Given the description of an element on the screen output the (x, y) to click on. 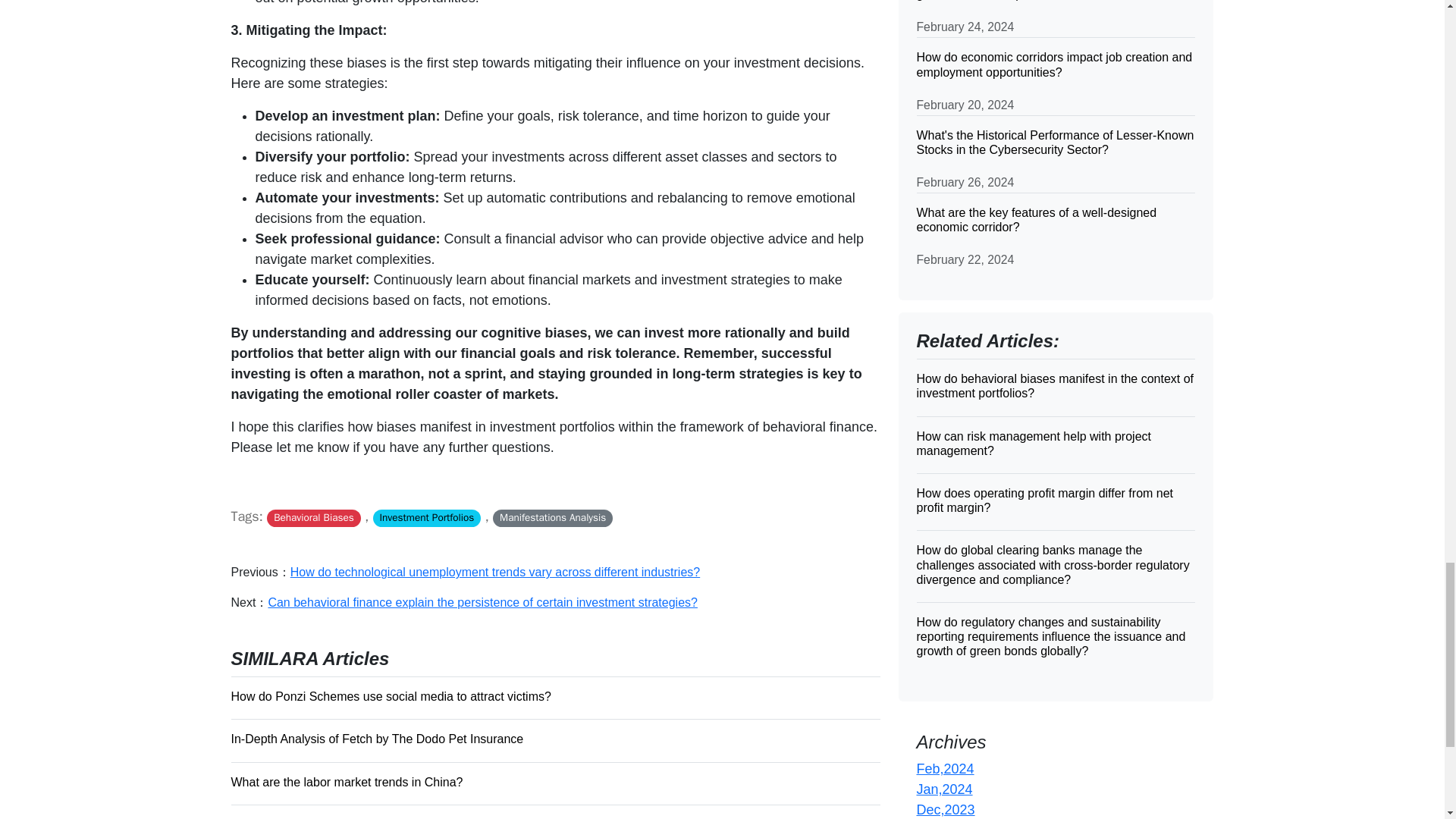
In-Depth Analysis of Fetch by The Dodo Pet Insurance (554, 738)
How do Ponzi Schemes use social media to attract victims? (554, 695)
Manifestations Analysis (552, 518)
What are the labor market trends in China? (554, 781)
Investment Portfolios (426, 518)
Behavioral Biases (312, 518)
